Given the description of an element on the screen output the (x, y) to click on. 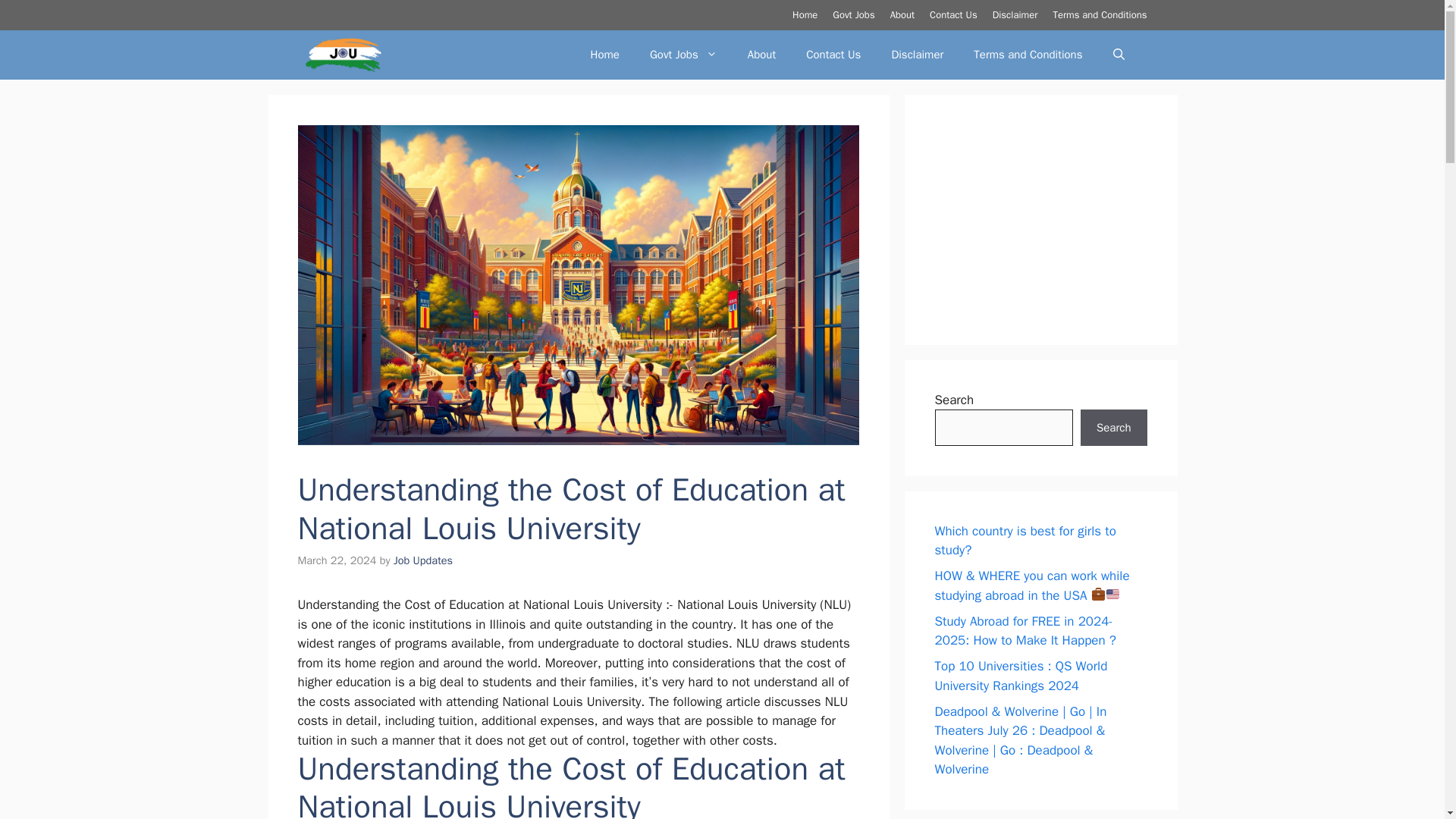
Terms and Conditions (1027, 53)
Home (804, 14)
Contact Us (953, 14)
Disclaimer (917, 53)
Terms and Conditions (1099, 14)
Govt Jobs (853, 14)
Home (604, 53)
Search (1113, 427)
View all posts by Job Updates (422, 560)
Job Updates (422, 560)
